Given the description of an element on the screen output the (x, y) to click on. 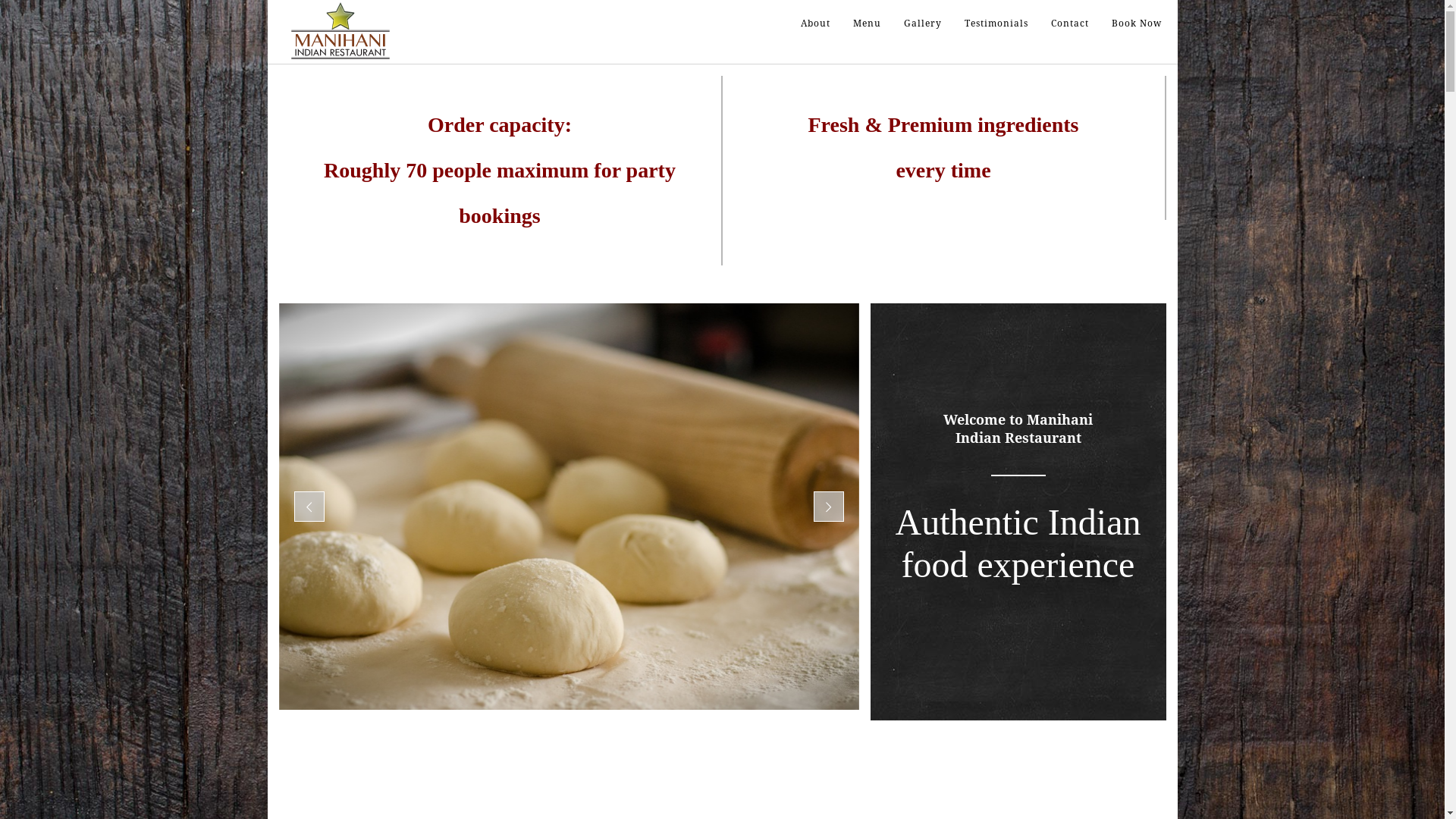
Gallery Element type: text (921, 23)
About Element type: text (814, 23)
Menu Element type: text (866, 23)
Book Now Element type: text (1135, 23)
Testimonials Element type: text (995, 23)
Contact Element type: text (1068, 23)
